Given the description of an element on the screen output the (x, y) to click on. 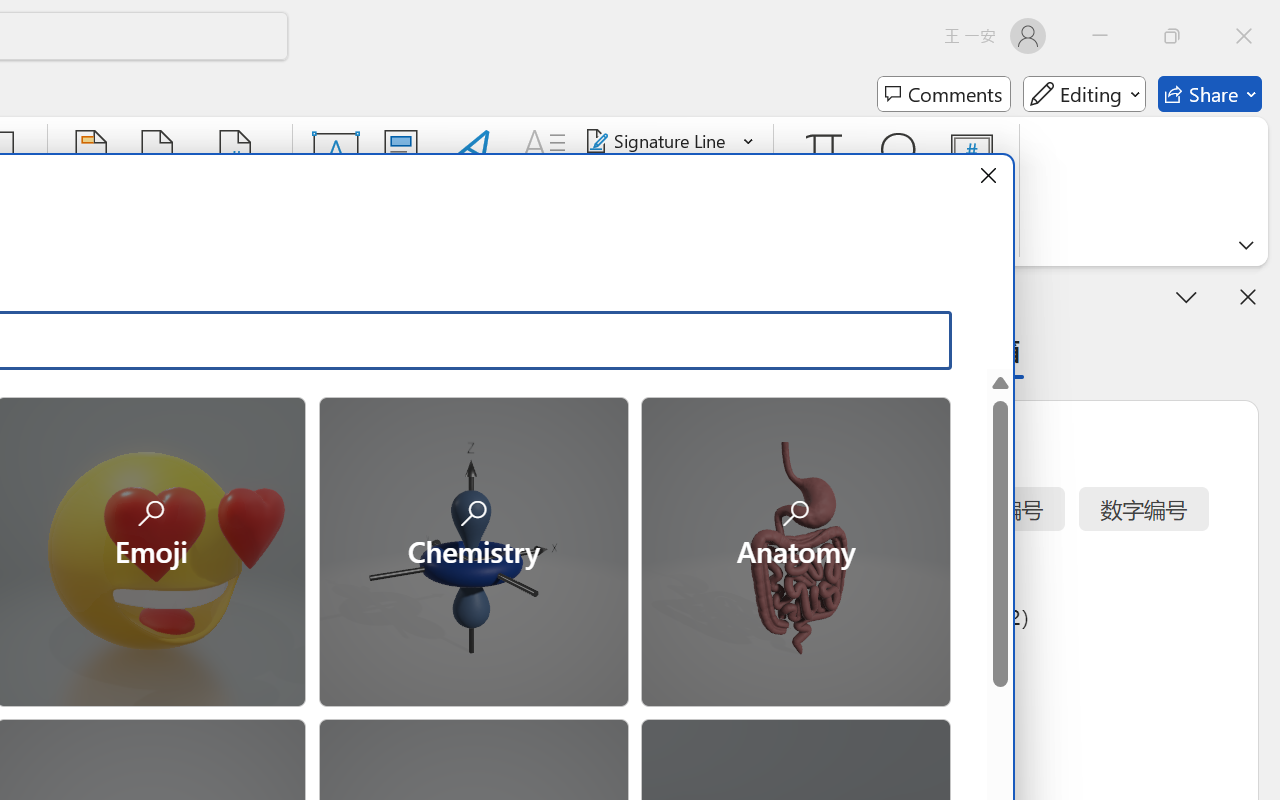
Chemistry (472, 549)
Anatomy (795, 549)
